Given the description of an element on the screen output the (x, y) to click on. 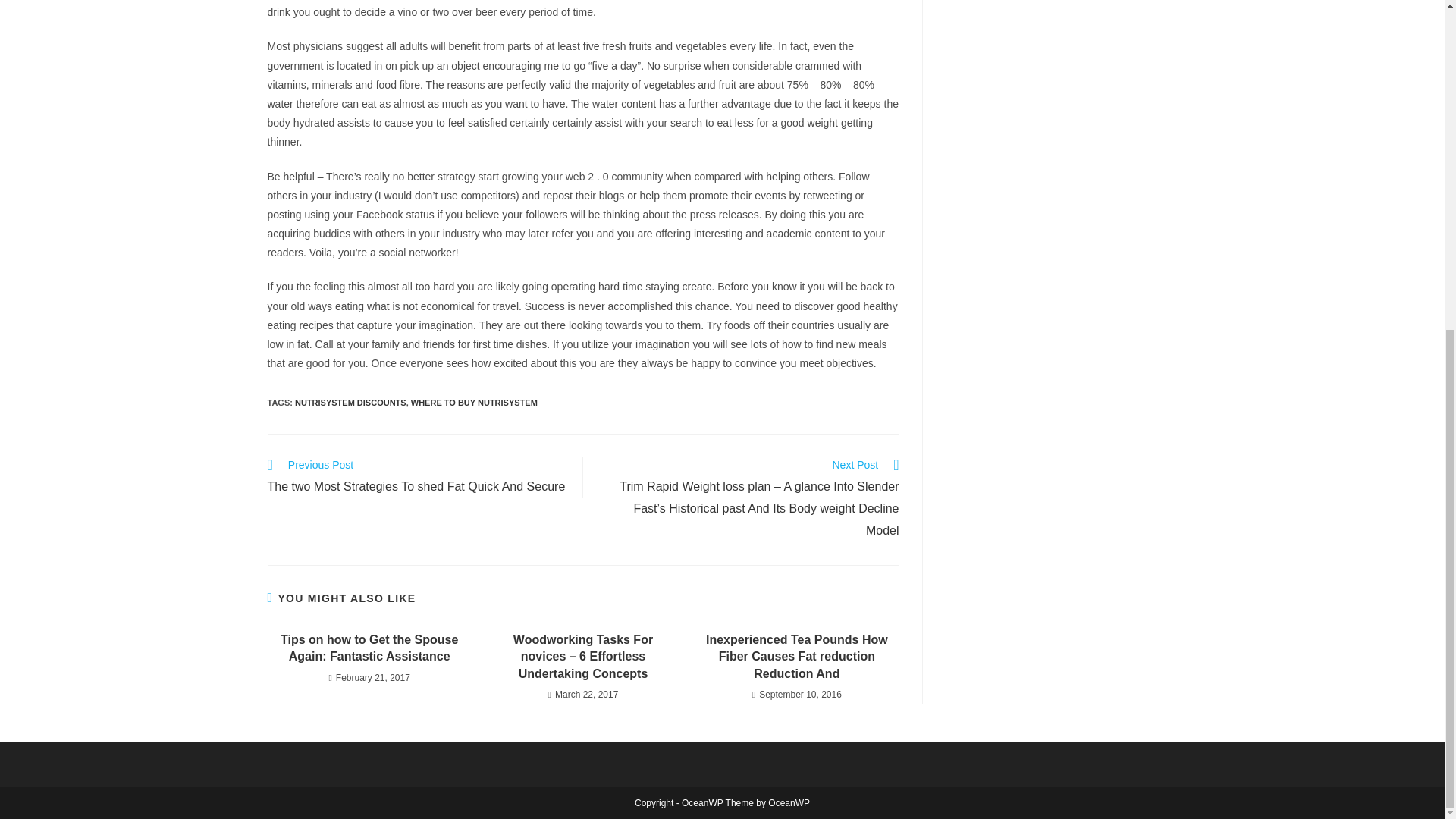
WHERE TO BUY NUTRISYSTEM (473, 402)
Tips on how to Get the Spouse Again: Fantastic Assistance (368, 648)
NUTRISYSTEM DISCOUNTS (350, 402)
